Given the description of an element on the screen output the (x, y) to click on. 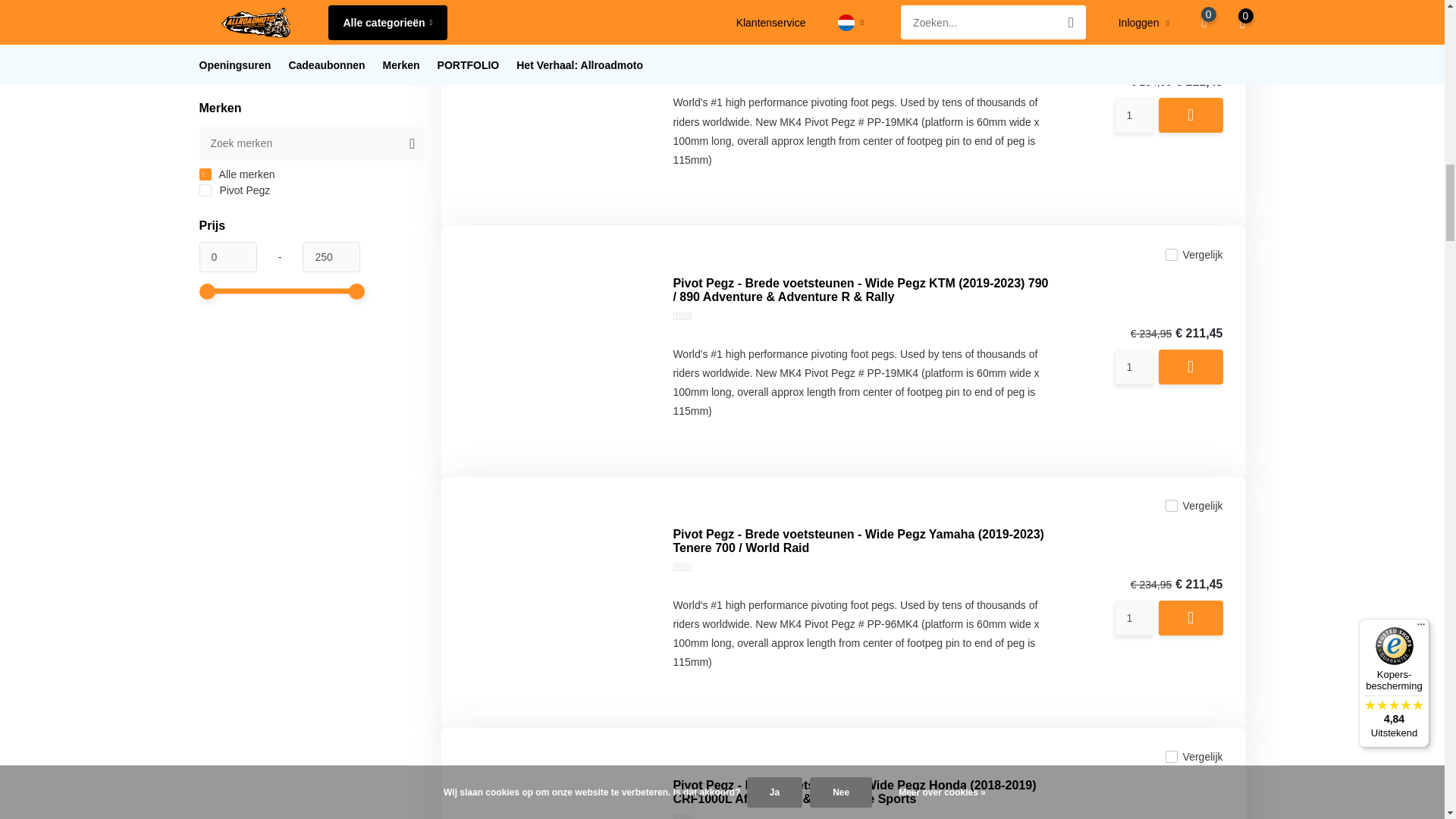
1 (1134, 617)
1 (1134, 366)
1 (1134, 114)
